Given the description of an element on the screen output the (x, y) to click on. 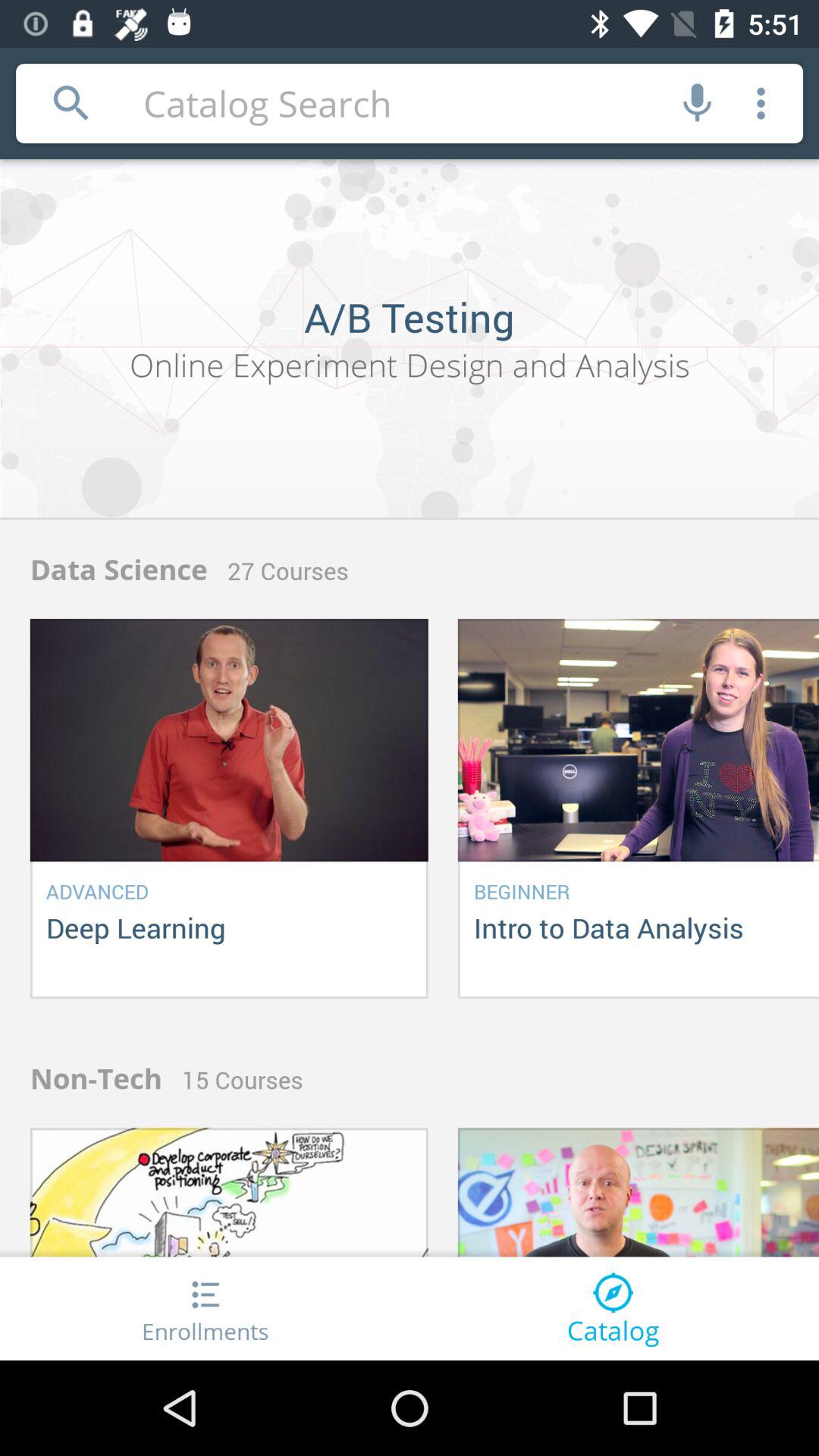
drop down menu (760, 103)
